Given the description of an element on the screen output the (x, y) to click on. 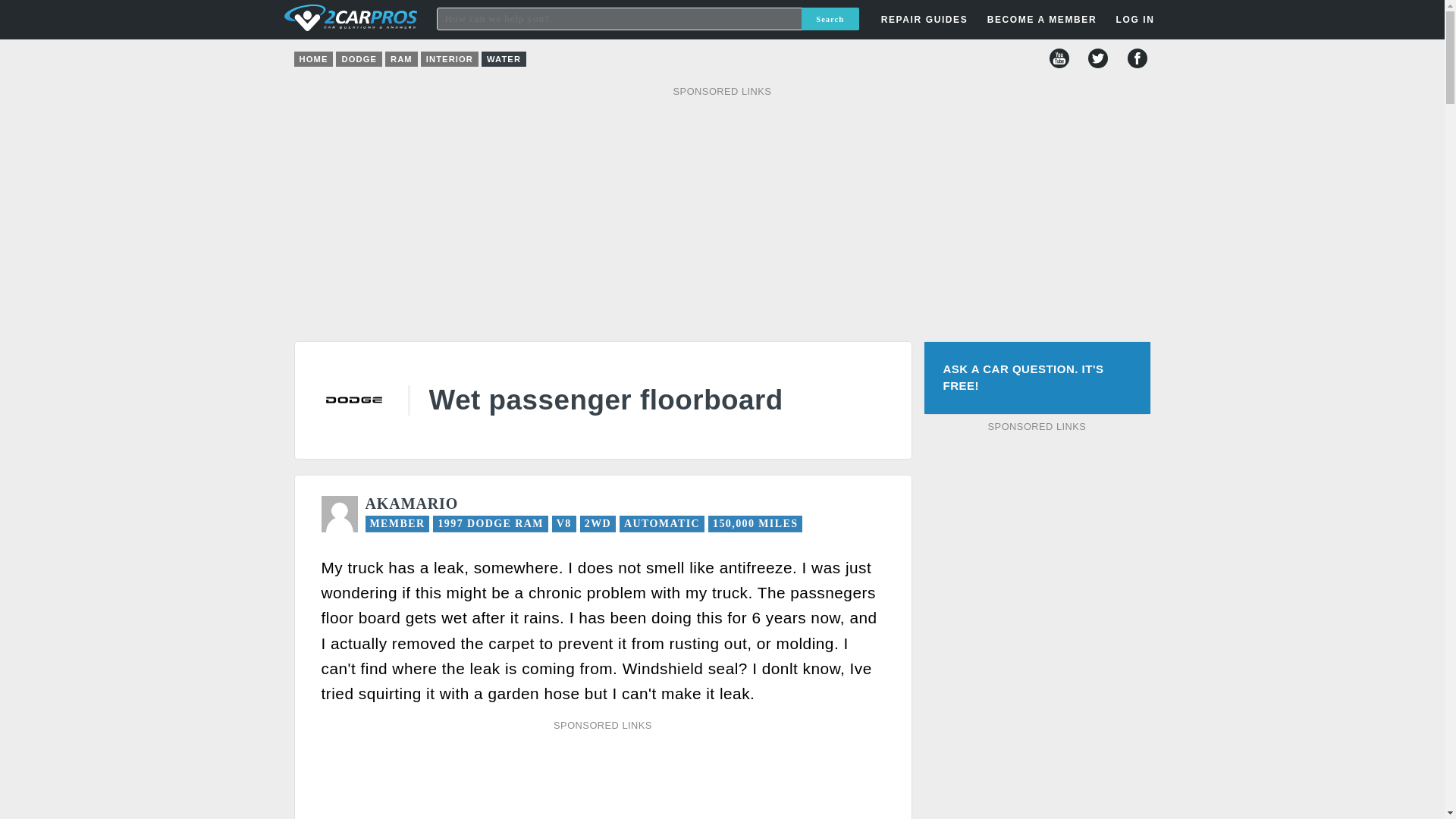
REPAIR GUIDES (924, 19)
LOG IN (1134, 19)
Advertisement (600, 778)
YouTube (1058, 57)
HOME (313, 58)
Advertisement (1037, 626)
Search (830, 18)
WATER (503, 58)
Search (830, 18)
LOG IN (1048, 242)
Twitter (1097, 57)
RAM (401, 58)
DODGE (358, 58)
BECOME A MEMBER (1041, 19)
